Given the description of an element on the screen output the (x, y) to click on. 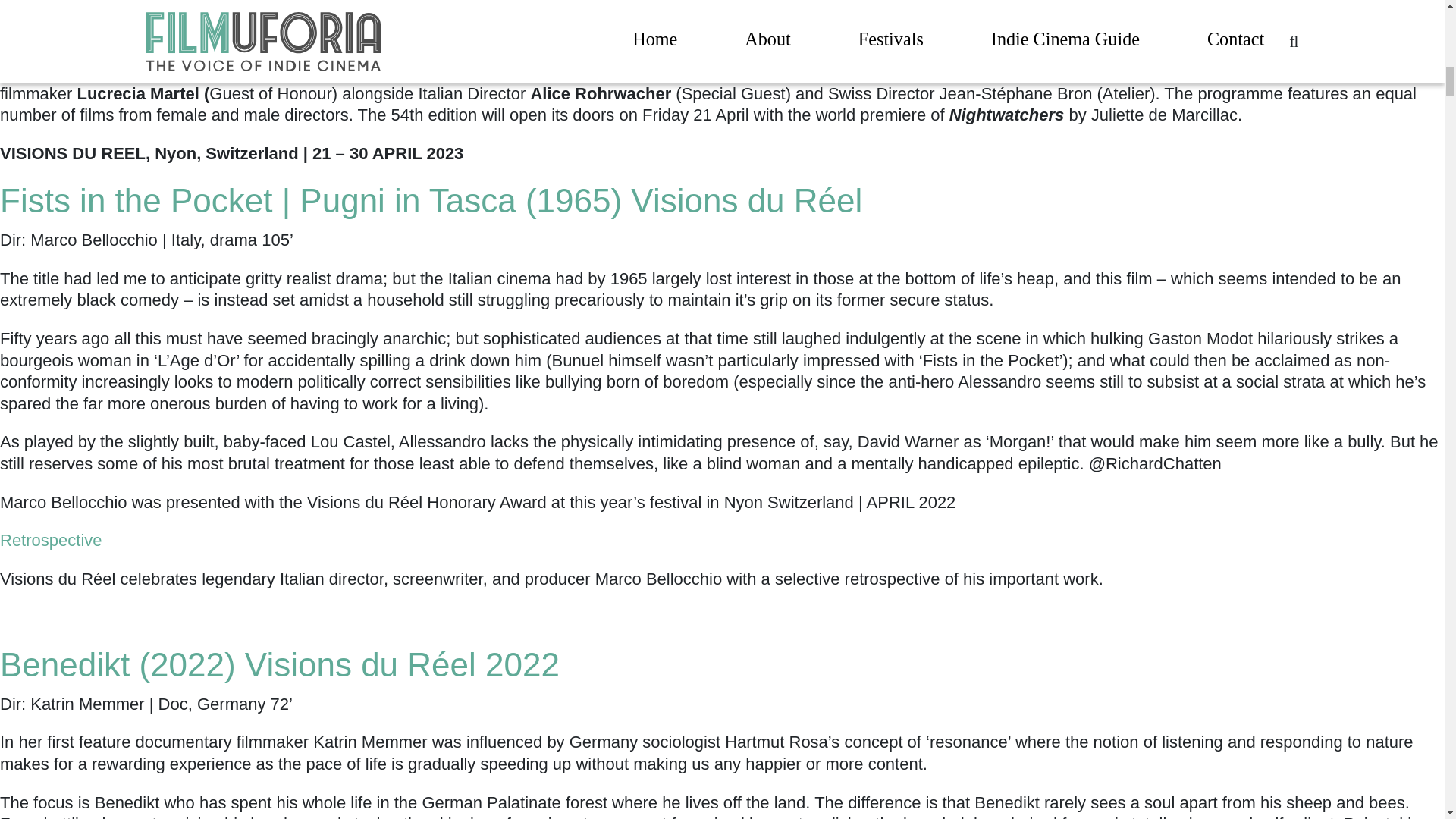
Retrospective (50, 539)
